Given the description of an element on the screen output the (x, y) to click on. 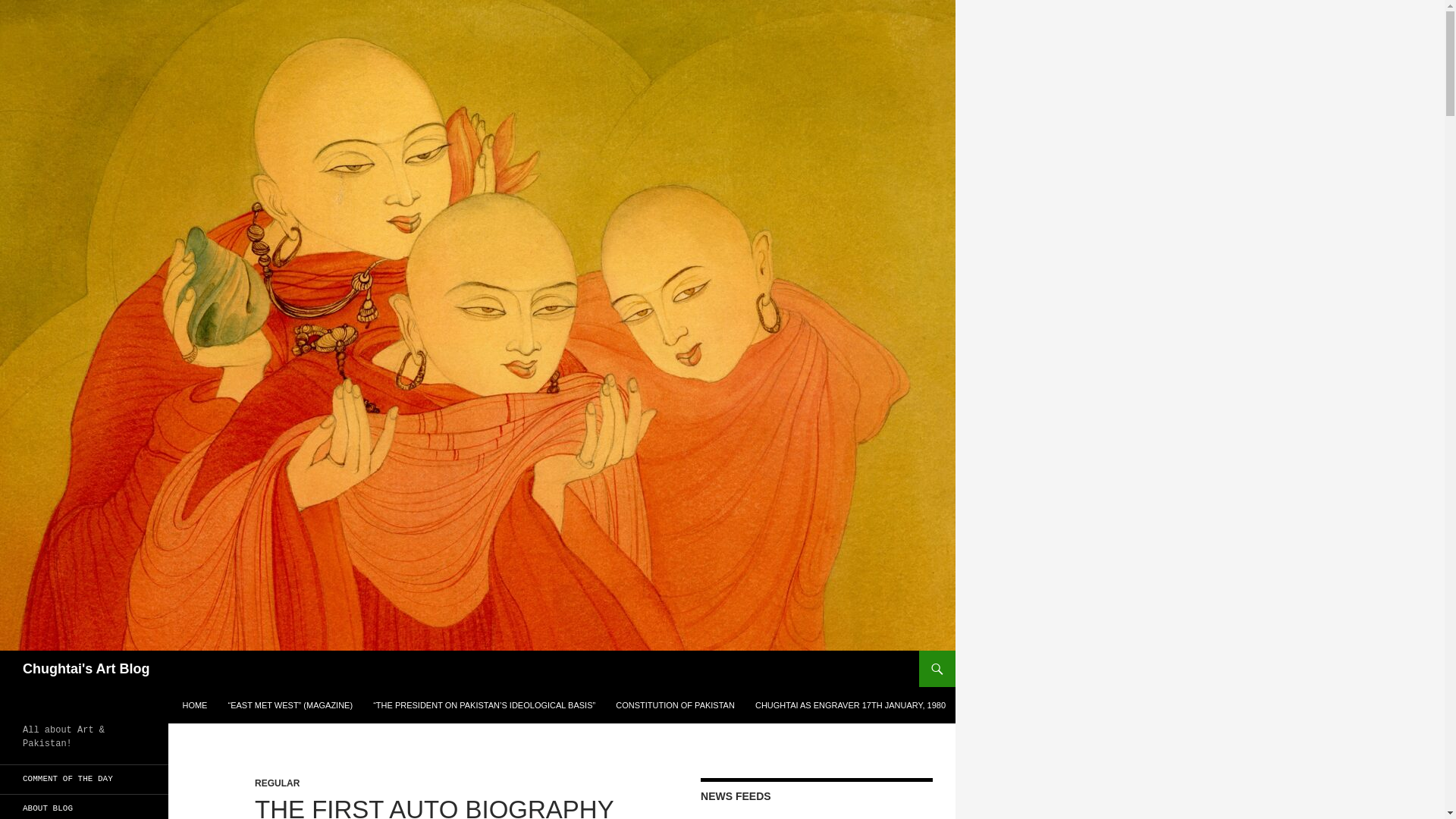
CHUGHTAI AS ENGRAVER 17TH JANUARY, 1980 (850, 705)
CONSTITUTION OF PAKISTAN (675, 705)
REGULAR (276, 783)
HOME (194, 705)
Chughtai's Art Blog (86, 668)
